Given the description of an element on the screen output the (x, y) to click on. 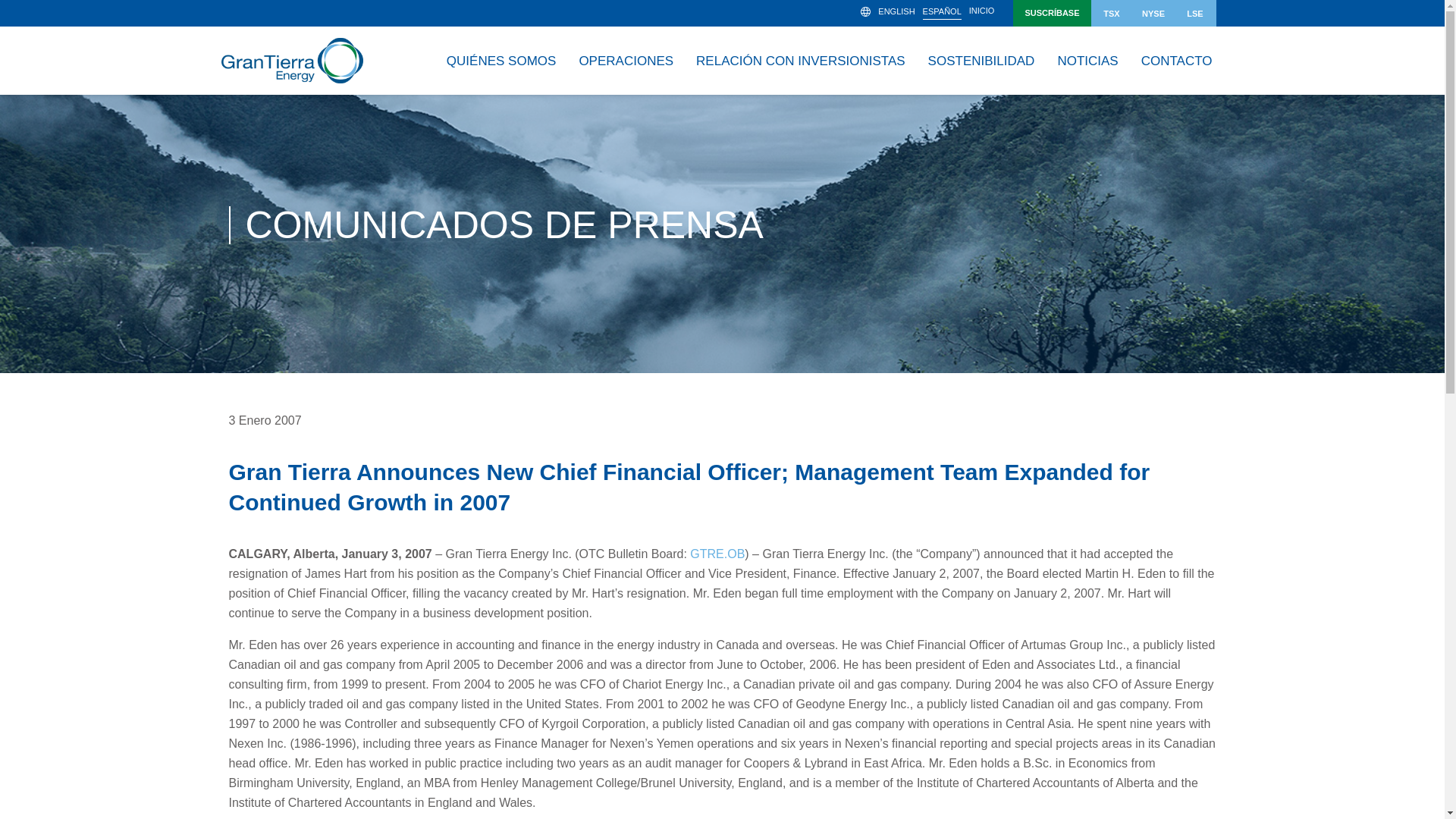
Operaciones (625, 60)
NYSE (1153, 13)
INICIO (981, 12)
TSX (1111, 13)
SOSTENIBILIDAD (981, 60)
LSE (1194, 13)
Gran Tierra Energy (291, 60)
OPERACIONES (625, 60)
CONTACTO (1176, 60)
ENGLISH (895, 12)
